Given the description of an element on the screen output the (x, y) to click on. 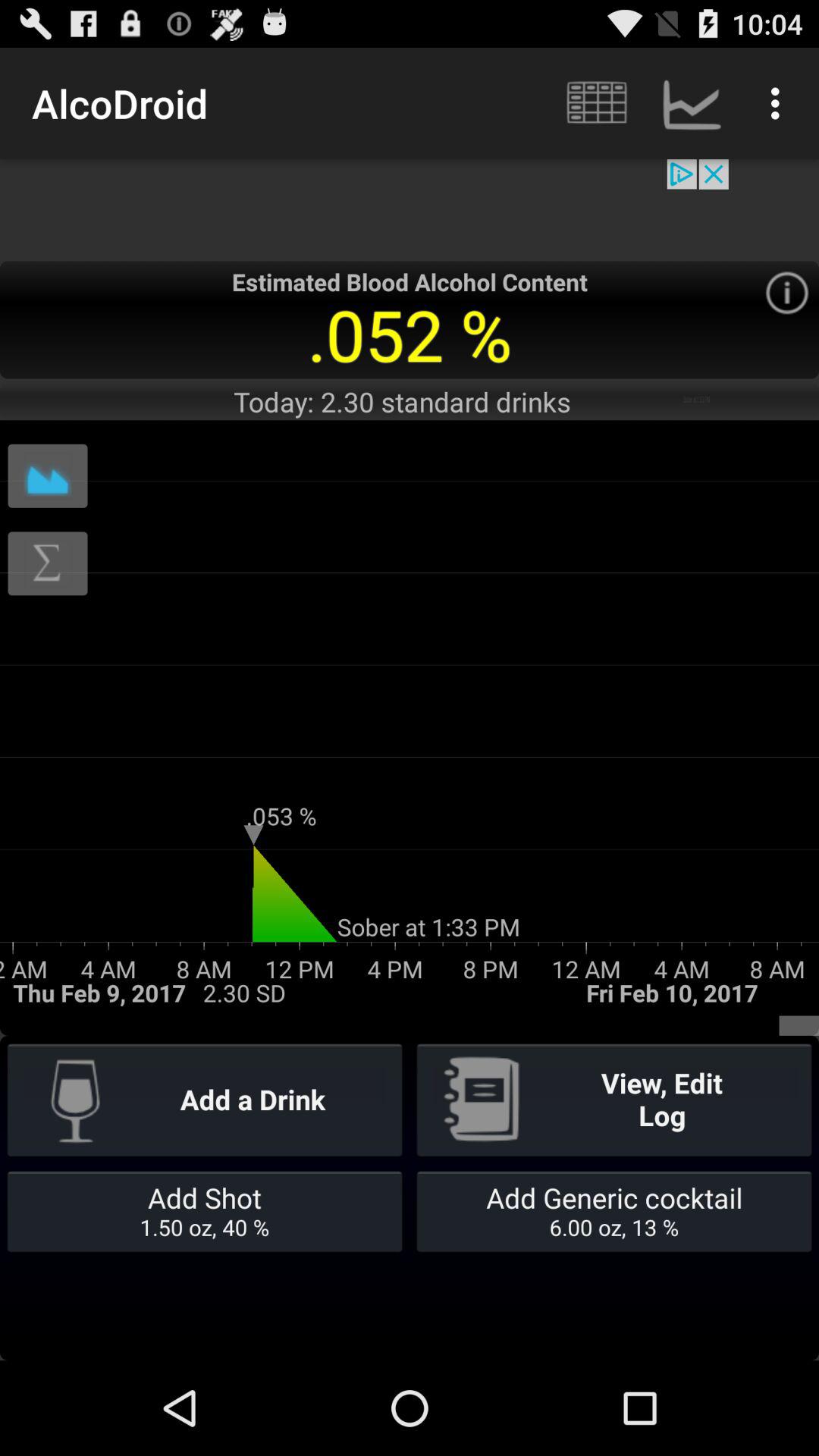
select the icon which is right to the text alcodroid (595, 103)
select the option menu on the right corner of the screen (779, 103)
select the button left to menu button (691, 103)
